Given the description of an element on the screen output the (x, y) to click on. 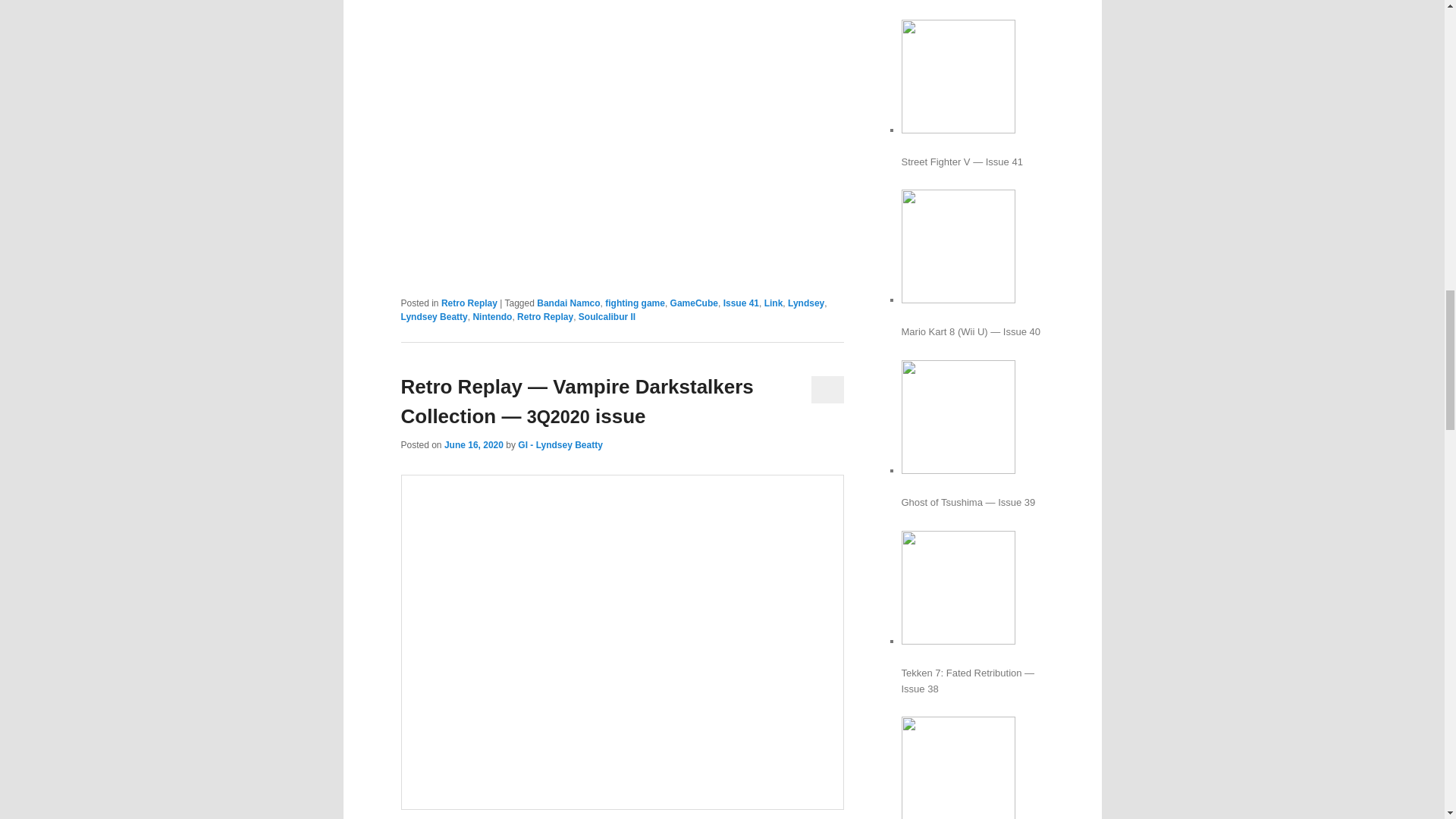
Retro Replay (469, 303)
Lyndsey Beatty (433, 317)
GameCube (693, 303)
fighting game (635, 303)
June 16, 2020 (473, 444)
Nintendo (491, 317)
GI - Lyndsey Beatty (560, 444)
Soulcalibur II - 4th Quarter 2010 (621, 135)
10:47 AM (473, 444)
Soulcalibur II (606, 317)
Link (773, 303)
View all posts by GI - Lyndsey Beatty (560, 444)
Retro Replay (544, 317)
Issue 41 (740, 303)
Bandai Namco (568, 303)
